Given the description of an element on the screen output the (x, y) to click on. 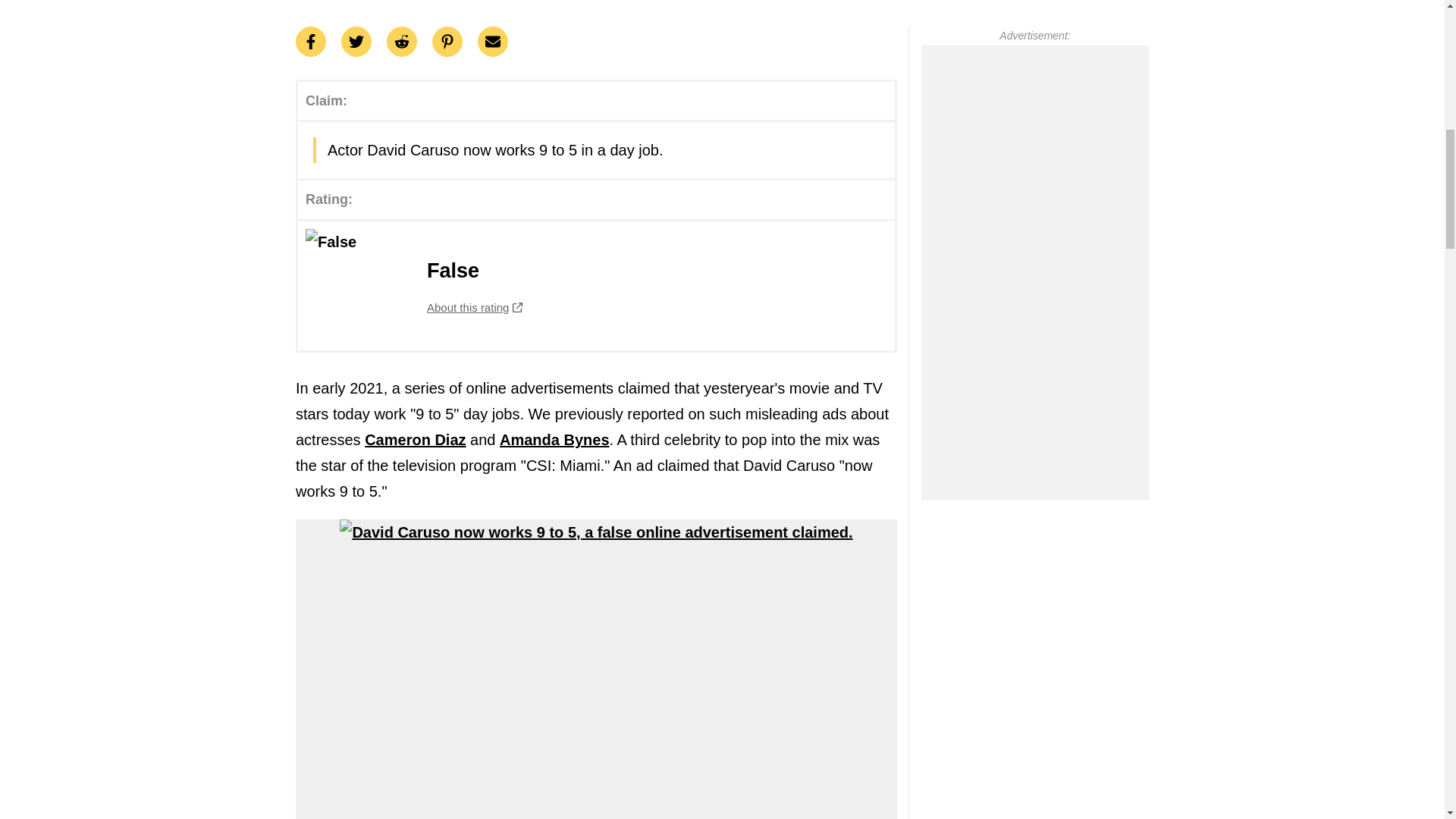
Cameron Diaz (415, 439)
